Given the description of an element on the screen output the (x, y) to click on. 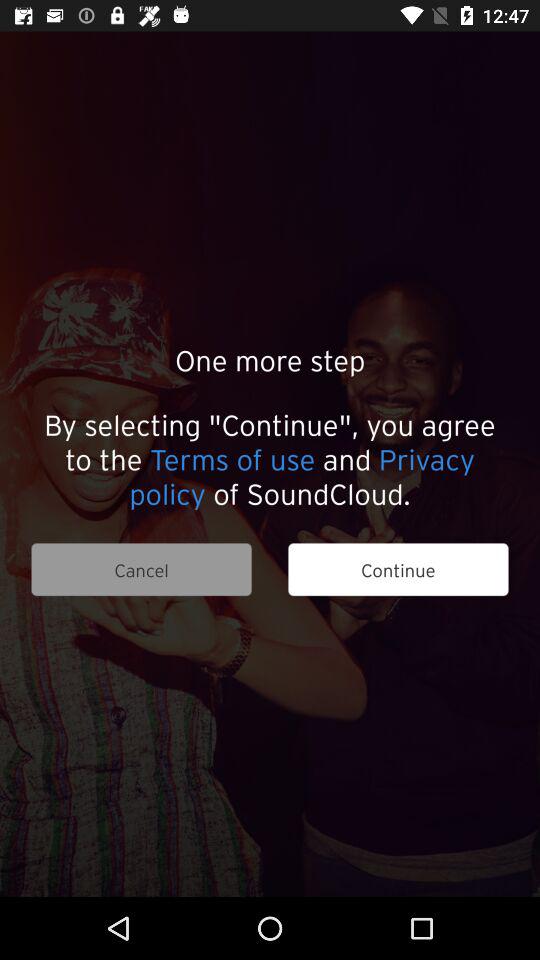
press the icon below one more step icon (269, 457)
